Given the description of an element on the screen output the (x, y) to click on. 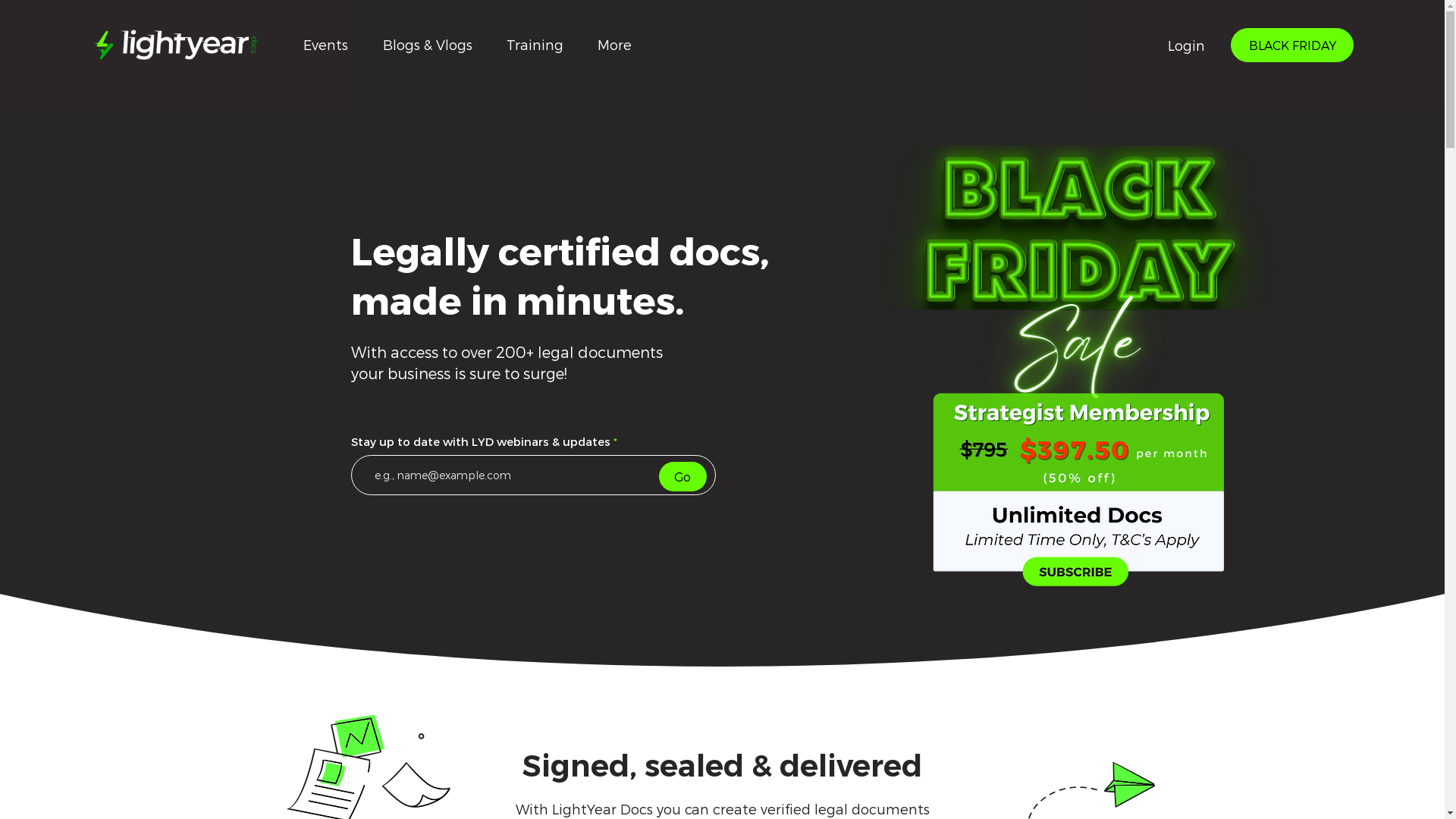
Login Element type: text (1185, 45)
BLACK FRIDAY Element type: text (1291, 45)
Events Element type: text (325, 44)
Go Element type: text (682, 476)
Training Element type: text (534, 44)
Blogs & Vlogs Element type: text (427, 44)
